Given the description of an element on the screen output the (x, y) to click on. 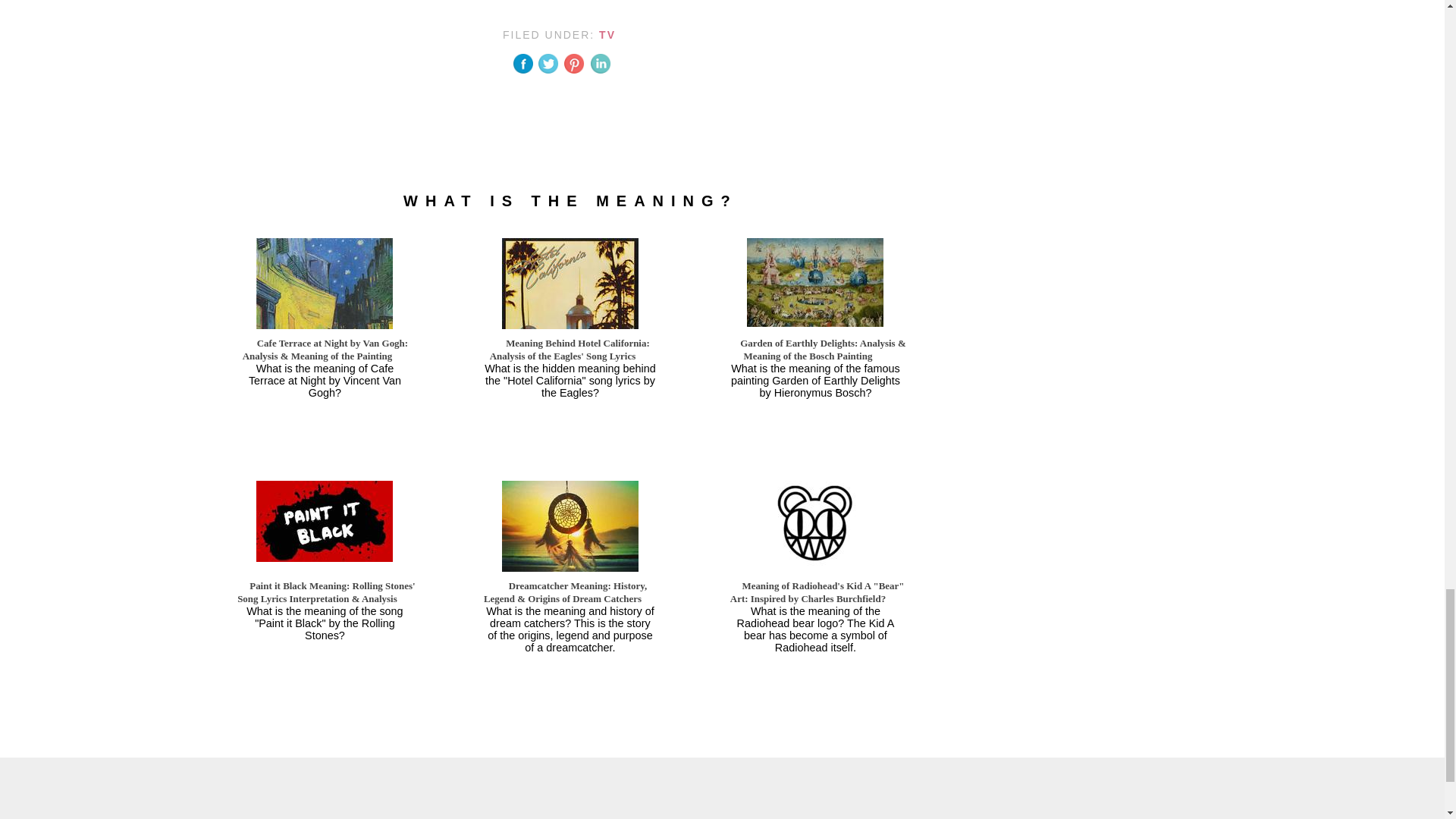
Meaning of "Paint it Black" by the Rolling Stones (324, 520)
Meaning Behind the Eagles (570, 305)
TV (607, 34)
